Given the description of an element on the screen output the (x, y) to click on. 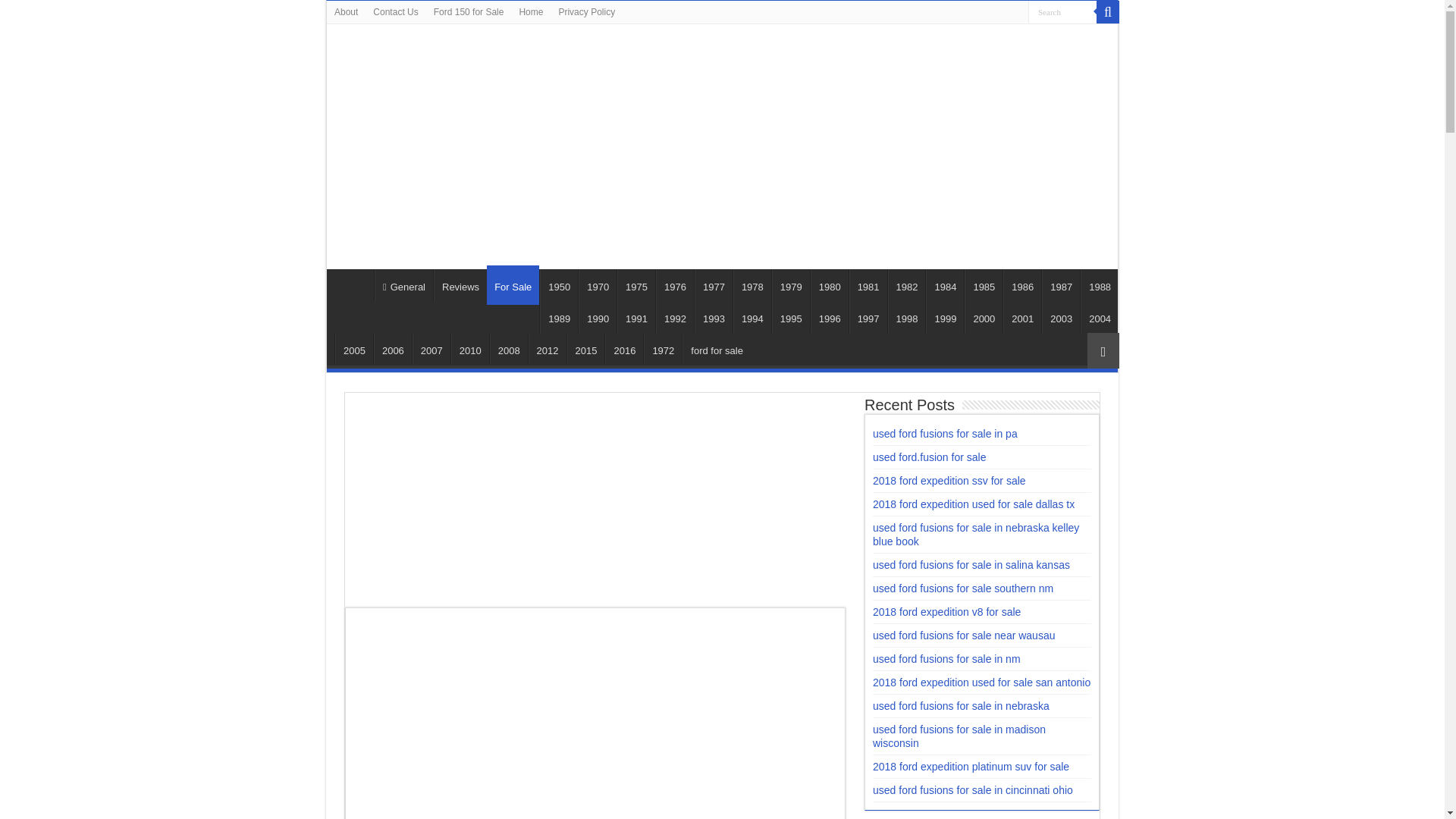
1982 (907, 285)
1985 (983, 285)
1977 (713, 285)
Search (1107, 11)
1993 (713, 316)
1999 (944, 316)
1995 (790, 316)
2000 (983, 316)
1987 (1061, 285)
About (345, 11)
1994 (752, 316)
General (403, 285)
Search (1061, 11)
Privacy Policy (586, 11)
Search (1061, 11)
